Given the description of an element on the screen output the (x, y) to click on. 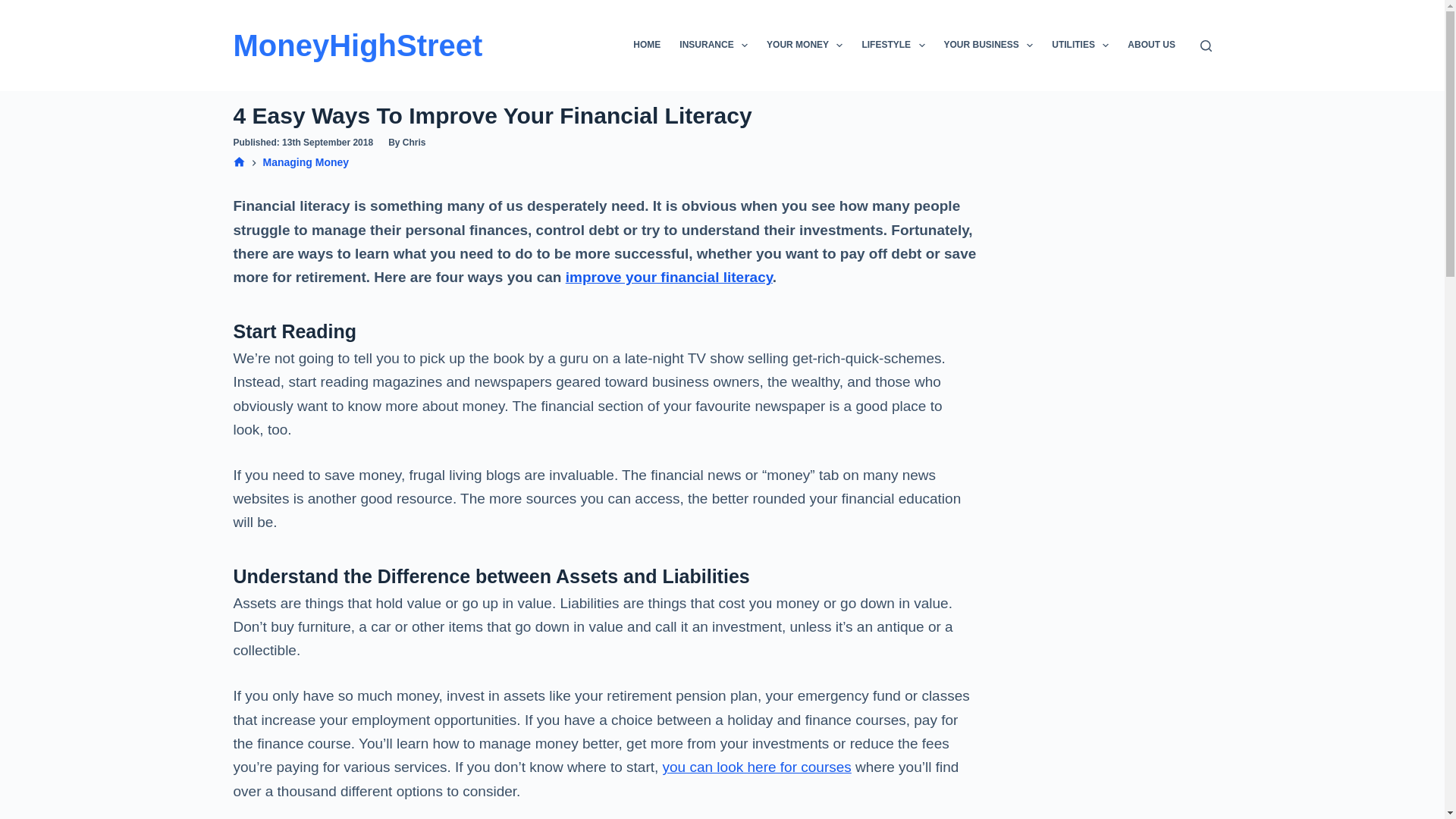
Skip to content (15, 7)
4 Easy Ways To Improve Your Financial Literacy (604, 115)
Posts by Chris (414, 142)
